Given the description of an element on the screen output the (x, y) to click on. 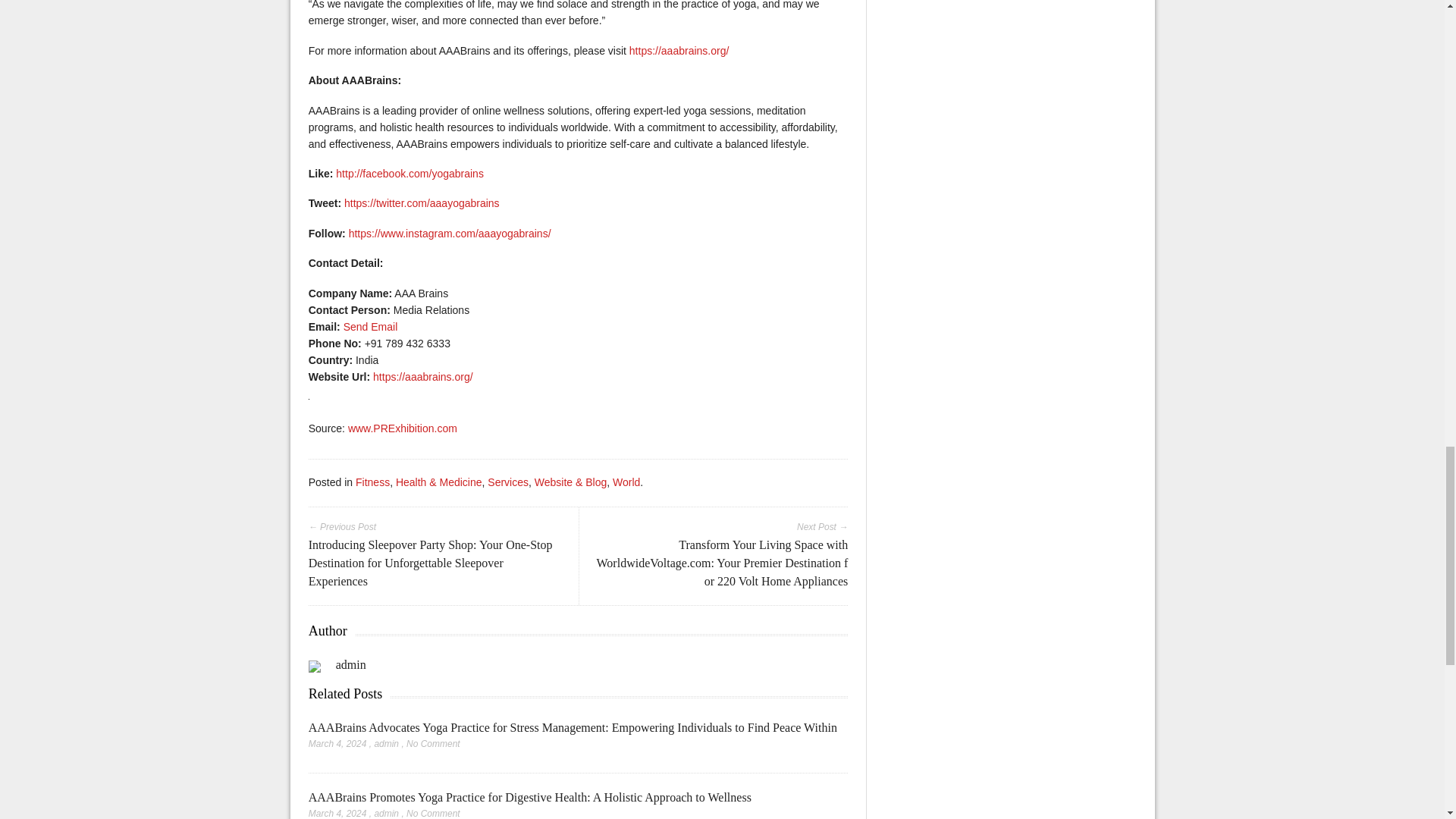
Posts by admin (351, 664)
admin (386, 813)
www.PRExhibition.com (402, 428)
World (626, 481)
Fitness (372, 481)
Send Email (370, 326)
